Given the description of an element on the screen output the (x, y) to click on. 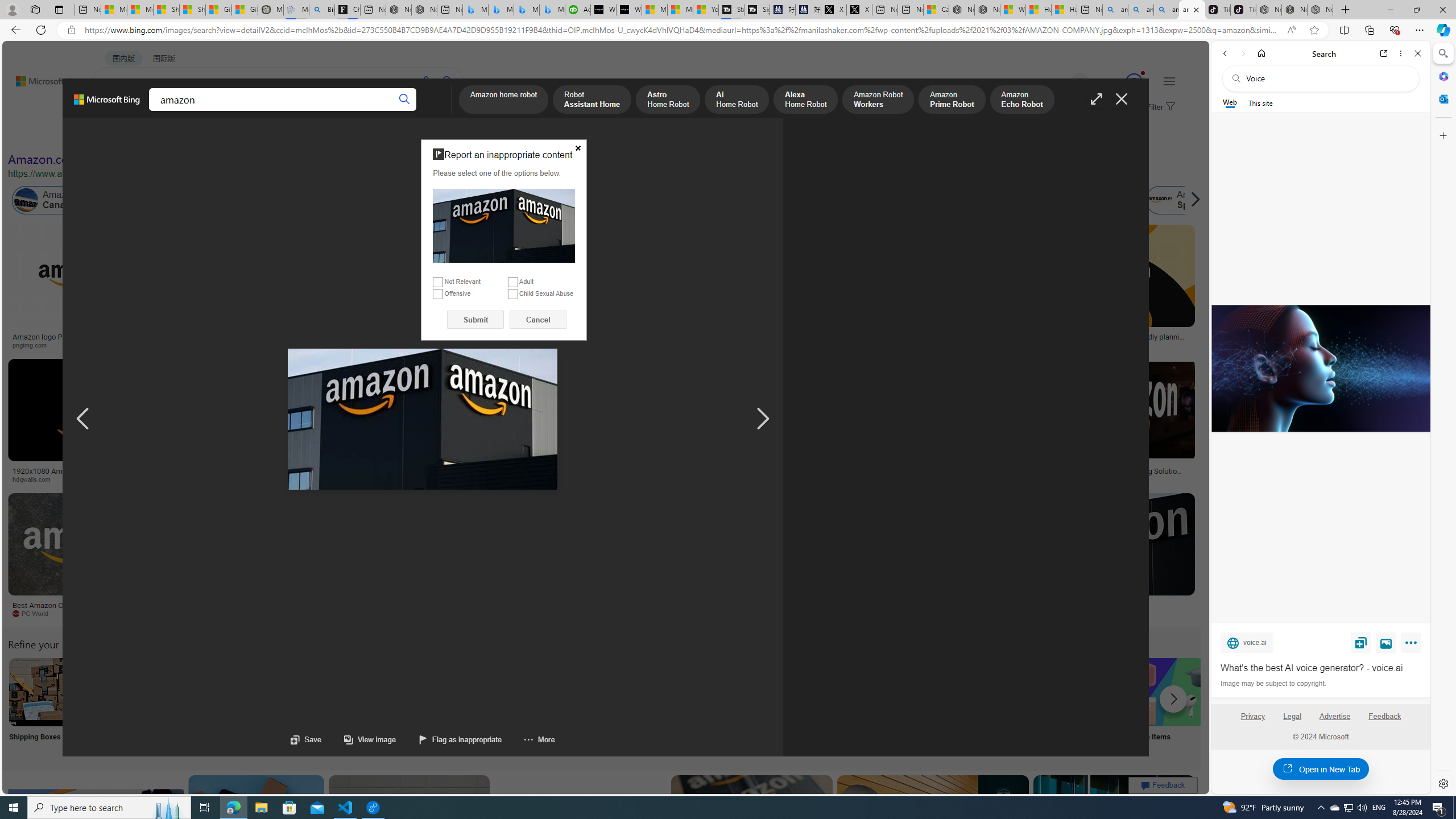
Log into My Account (268, 706)
View image (358, 739)
Color (173, 135)
Side bar (1443, 418)
Wish List (568, 706)
Alexa Smart Home Devices (673, 332)
Amazon Kids (263, 199)
Amazon Retail Store Retail Store (493, 706)
Save (1361, 642)
Amazon Echo Dot 4th Gen (673, 264)
